Given the description of an element on the screen output the (x, y) to click on. 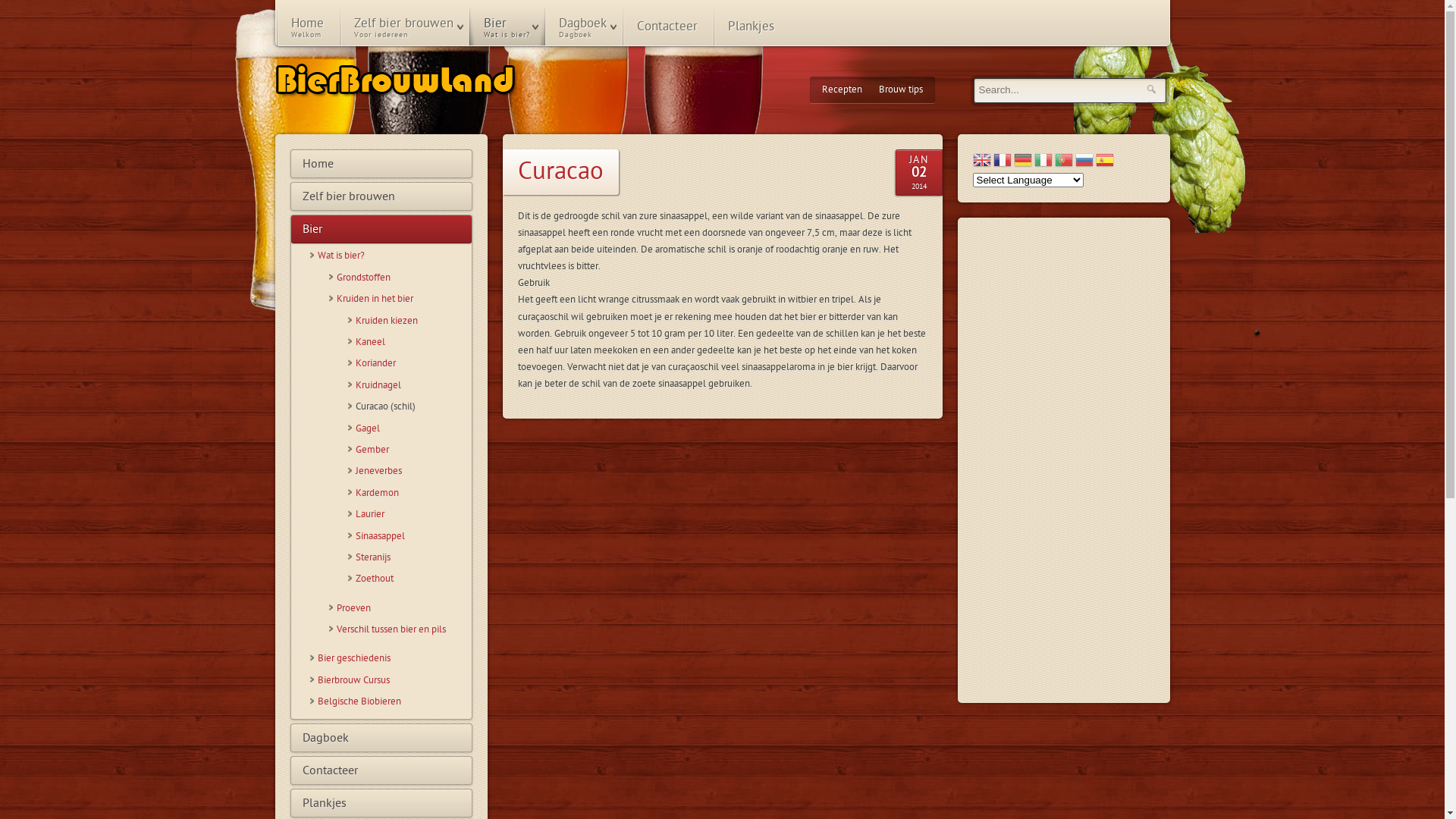
Verschil tussen bier en pils Element type: text (400, 629)
Dagboek Element type: text (381, 737)
Bier
Wat is bier? Element type: text (505, 26)
German Element type: hover (1022, 161)
English Element type: hover (981, 161)
Gember Element type: text (408, 449)
Bierbrouw Cursus Element type: text (389, 680)
Jeneverbes Element type: text (408, 471)
Koriander Element type: text (408, 363)
Plankjes Element type: text (750, 26)
Advertisement Element type: hover (1062, 459)
Bier Element type: text (381, 229)
Home
Welkom Element type: text (307, 26)
Gagel Element type: text (408, 428)
Kruiden kiezen Element type: text (408, 320)
Grondstoffen Element type: text (400, 277)
Laurier Element type: text (408, 514)
Plankjes Element type: text (381, 802)
Italian Element type: hover (1043, 161)
Belgische Biobieren Element type: text (389, 701)
Portuguese Element type: hover (1063, 161)
Zelf bier brouwen Element type: text (381, 196)
Kaneel Element type: text (408, 342)
Recepten Element type: text (840, 89)
Spanish Element type: hover (1104, 161)
Contacteer Element type: text (381, 770)
Bier geschiedenis Element type: text (389, 658)
Sinaasappel Element type: text (408, 536)
French Element type: hover (1002, 161)
Wat is bier? Element type: text (389, 255)
Proeven Element type: text (400, 608)
Curacao (schil) Element type: text (408, 406)
Curacao Element type: text (559, 171)
Zelf bier brouwen
Voor iedereen Element type: text (402, 26)
Dagboek
Dagboek Element type: text (581, 26)
Home Element type: text (381, 163)
Russian Element type: hover (1084, 161)
Kruiden in het bier Element type: text (400, 298)
Contacteer Element type: text (666, 26)
Steranijs Element type: text (408, 557)
Brouw tips Element type: text (900, 89)
Kardemon Element type: text (408, 493)
Zoethout Element type: text (408, 578)
Kruidnagel Element type: text (408, 385)
